Given the description of an element on the screen output the (x, y) to click on. 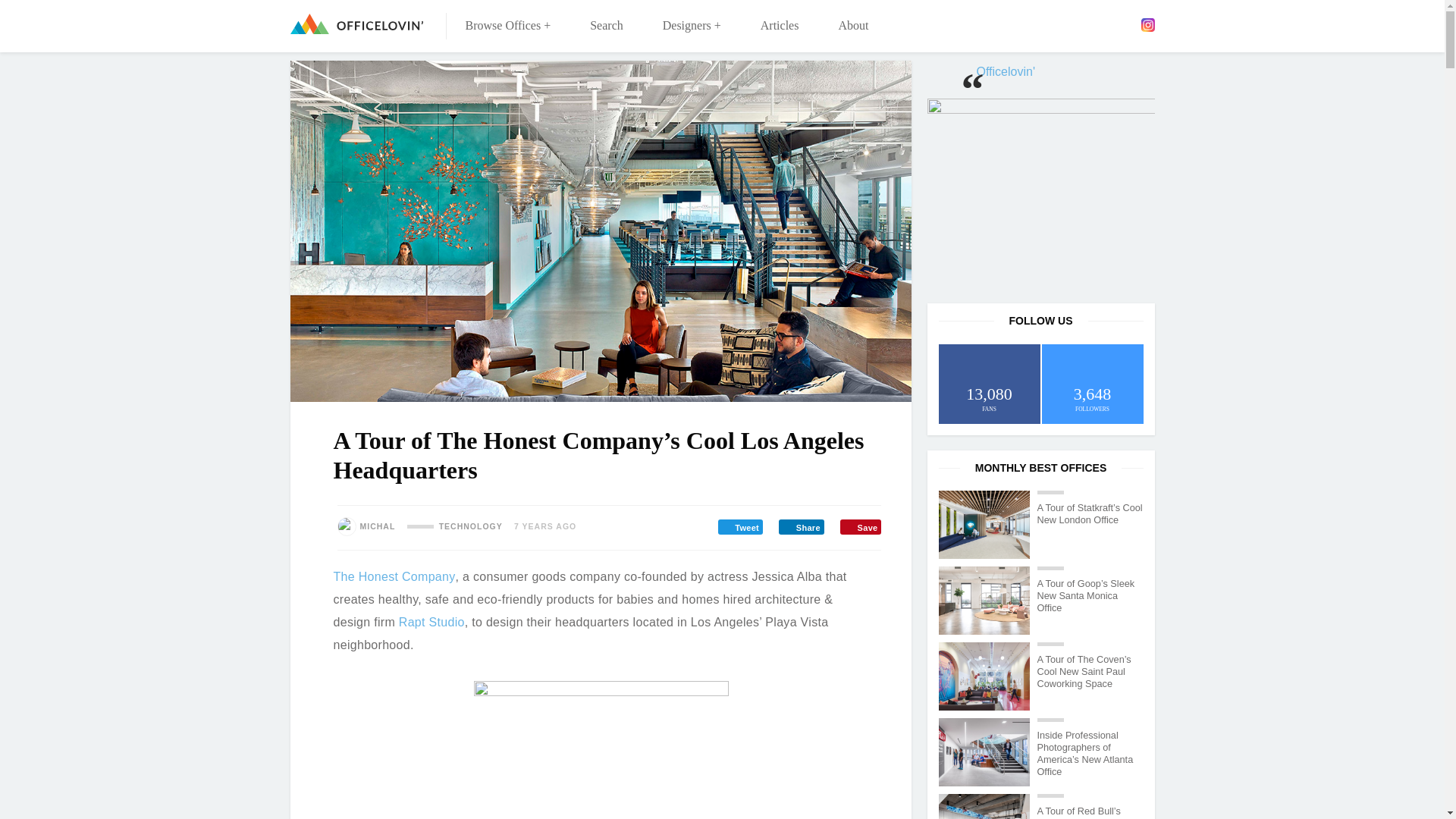
Share link on Pinterest (860, 526)
Officelovin on LinkedIn (1102, 24)
Officelovin on Facebook (1058, 24)
Officelovin on Twitter (1082, 24)
Share link on LinkedIn (801, 526)
Search (606, 25)
Officelovin on Pinterest (1125, 24)
Share link on Twitter (739, 526)
Officelovin on Instagram (1147, 24)
